Given the description of an element on the screen output the (x, y) to click on. 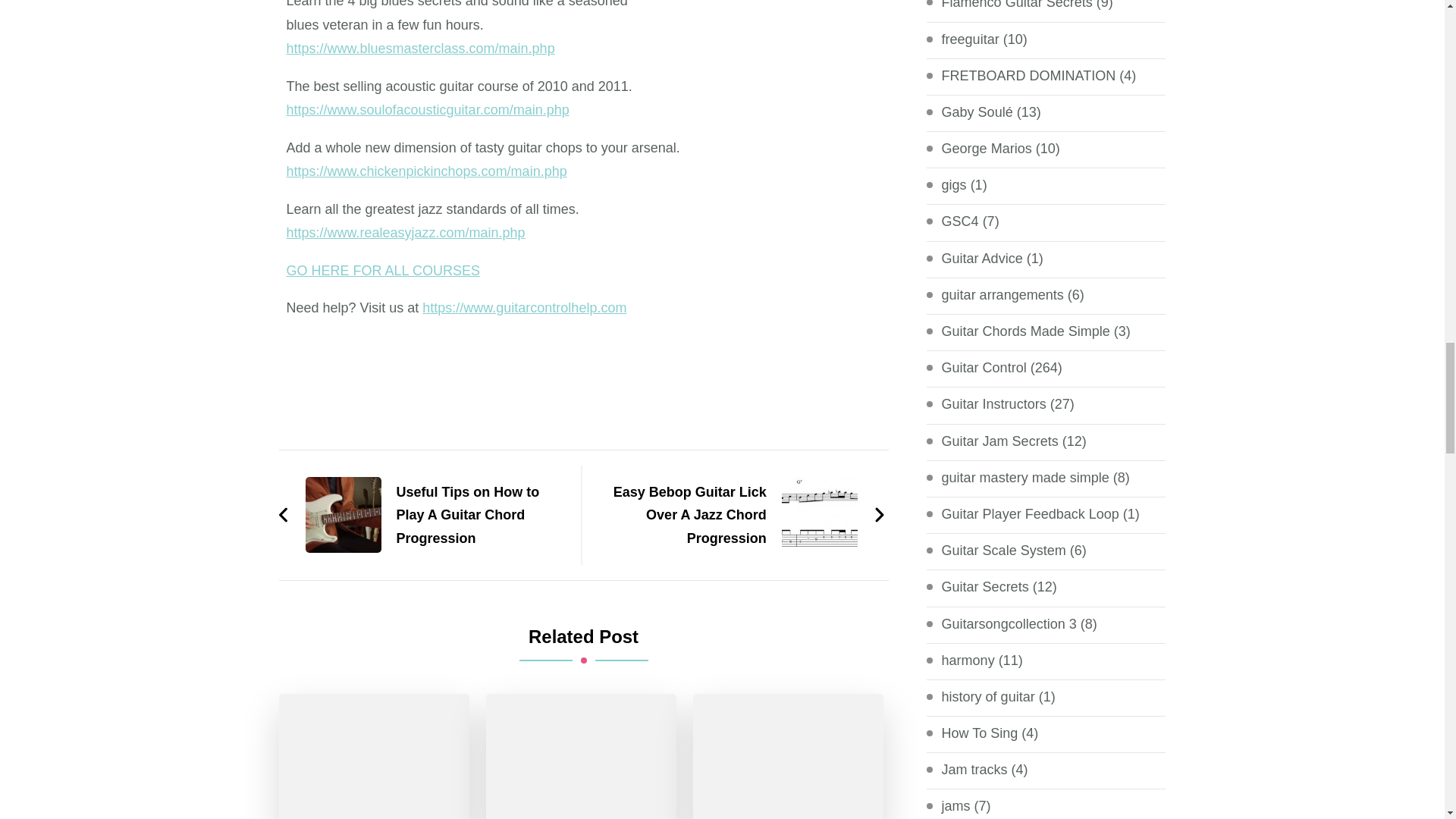
Useful Tips on How to Play A Guitar Chord Progression (421, 515)
Easy Bebop Guitar Lick Over A Jazz Chord Progression (740, 515)
GO HERE FOR ALL COURSES (383, 269)
